Given the description of an element on the screen output the (x, y) to click on. 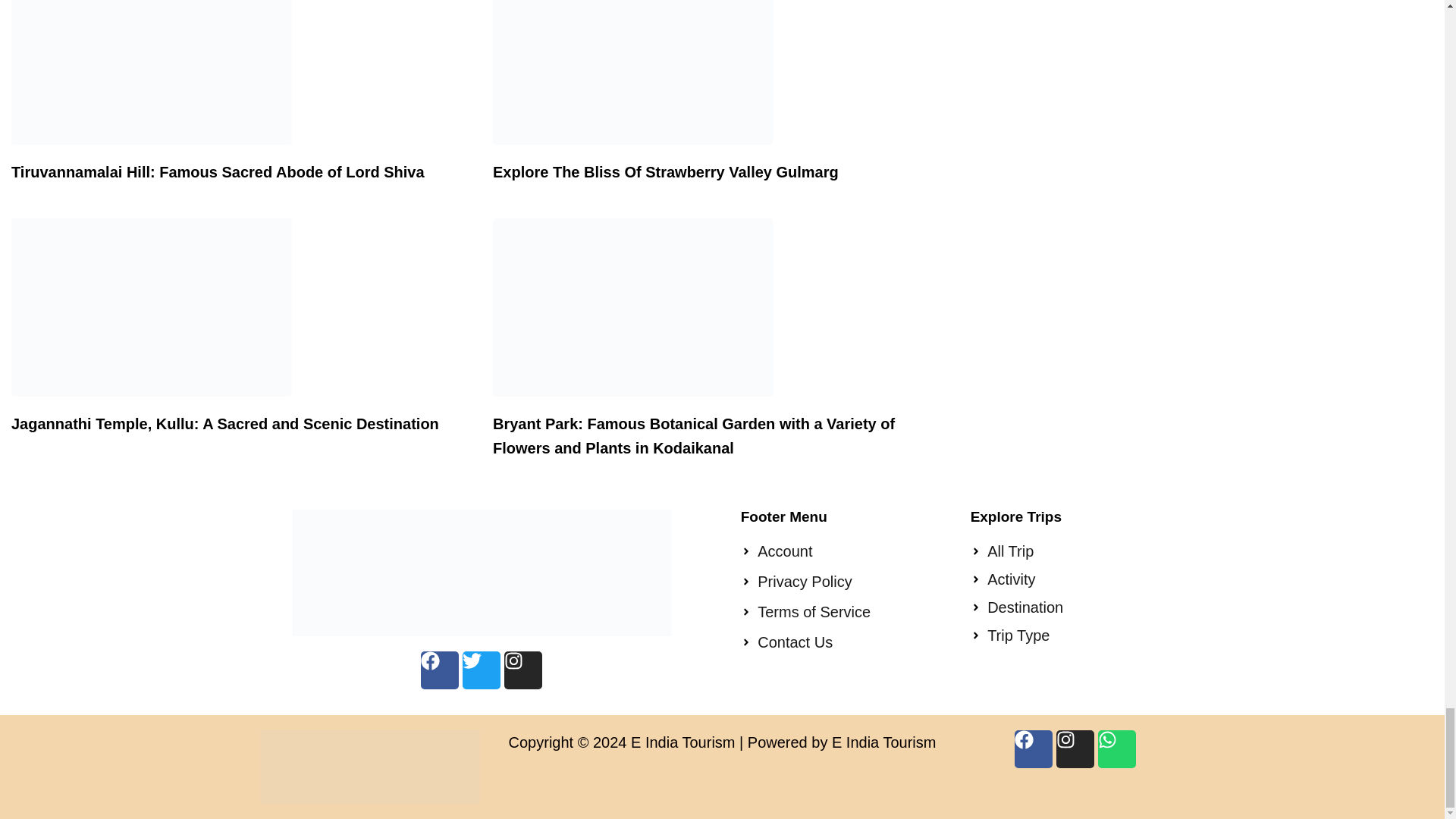
Jagannathi Temple, Kullu: A Sacred and Scenic Destination 13 (151, 307)
Tiruvannamalai Hill: Famous Sacred Abode of Lord Shiva 11 (151, 72)
Explore The Bliss Of Strawberry Valley Gulmarg 12 (633, 72)
